Given the description of an element on the screen output the (x, y) to click on. 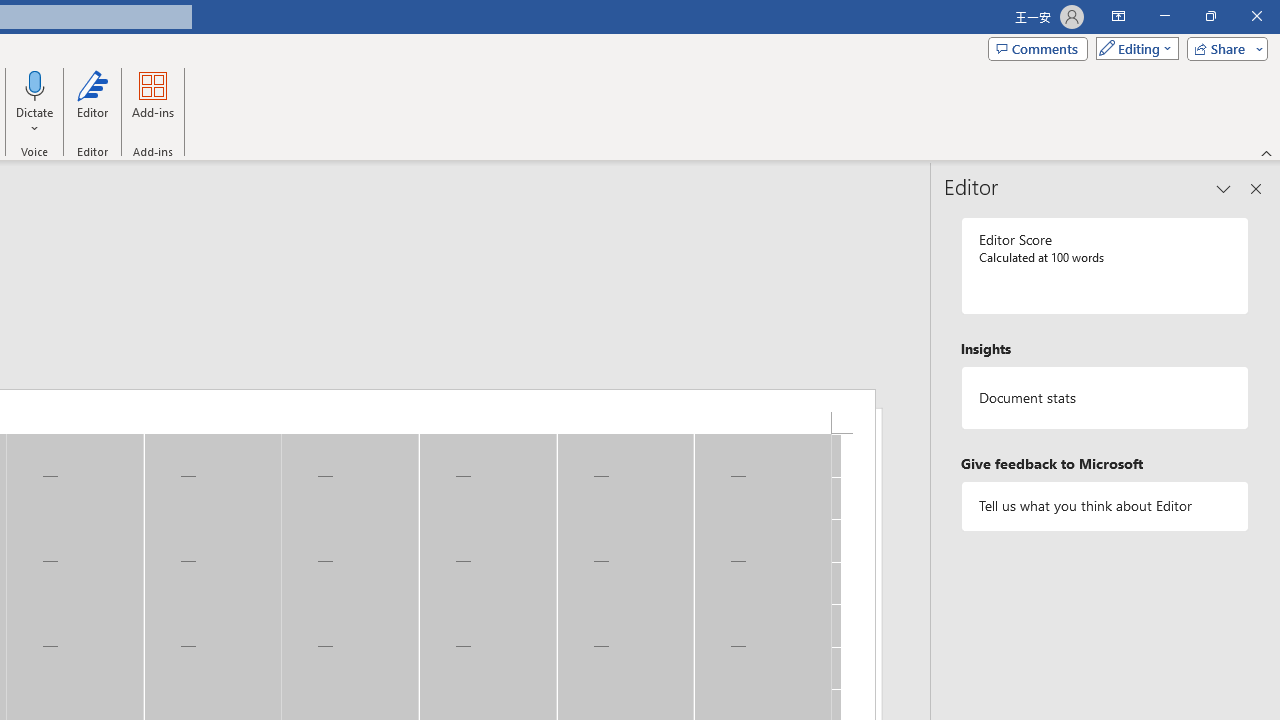
Tell us what you think about Editor (1105, 506)
Document statistics (1105, 398)
